Given the description of an element on the screen output the (x, y) to click on. 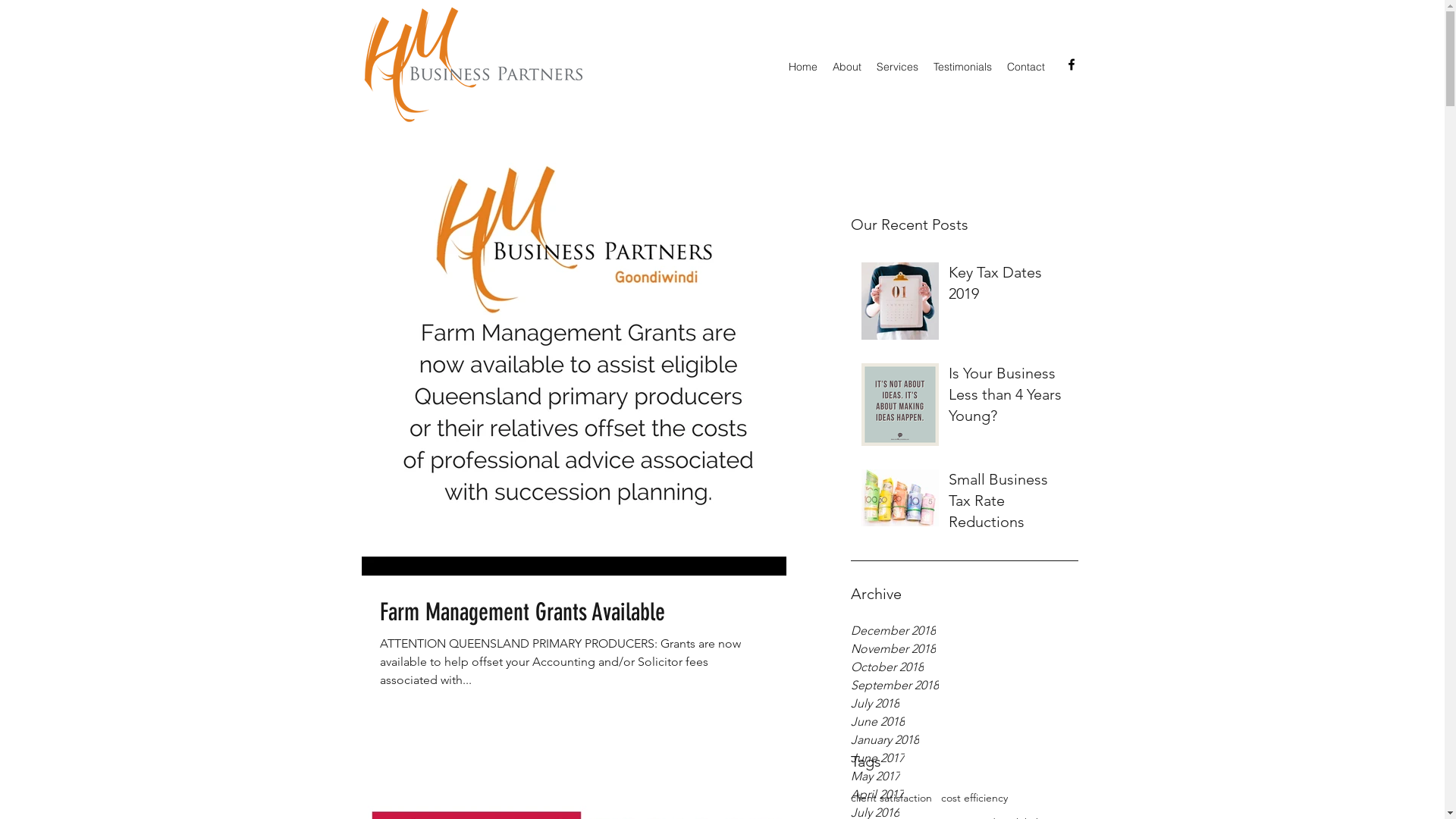
Home Element type: text (803, 66)
Contact Element type: text (1025, 66)
cost efficiency Element type: text (973, 798)
Key Tax Dates 2019 Element type: text (1008, 285)
June 2018 Element type: text (964, 721)
December 2018 Element type: text (964, 630)
April 2017 Element type: text (964, 794)
November 2018 Element type: text (964, 649)
client satisfaction Element type: text (890, 798)
October 2018 Element type: text (964, 667)
Small Business Tax Rate Reductions Element type: text (1008, 503)
Is Your Business Less than 4 Years Young? Element type: text (1008, 397)
July 2018 Element type: text (964, 703)
Testimonials Element type: text (961, 66)
January 2018 Element type: text (964, 740)
May 2017 Element type: text (964, 776)
September 2018 Element type: text (964, 685)
About Element type: text (847, 66)
June 2017 Element type: text (964, 758)
Services Element type: text (897, 66)
Farm Management Grants Available Element type: text (573, 611)
